Given the description of an element on the screen output the (x, y) to click on. 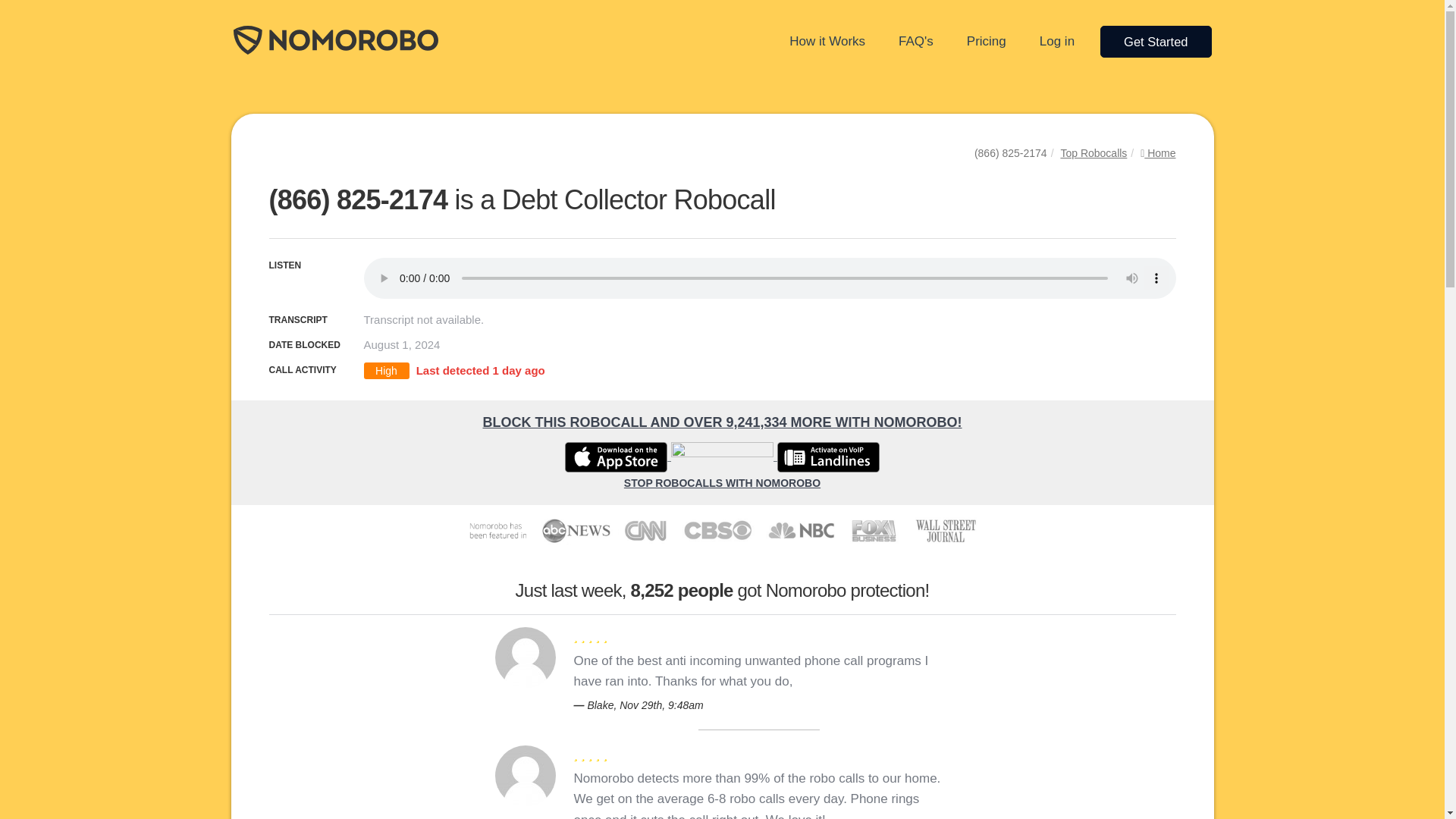
Home (1157, 152)
BLOCK THIS ROBOCALL AND OVER 9,241,334 MORE WITH NOMOROBO! (721, 422)
FAQ's (915, 41)
Top Robocalls (1092, 152)
Get Started (1155, 41)
How it Works (826, 41)
Log in (1056, 41)
Pricing (986, 41)
